Given the description of an element on the screen output the (x, y) to click on. 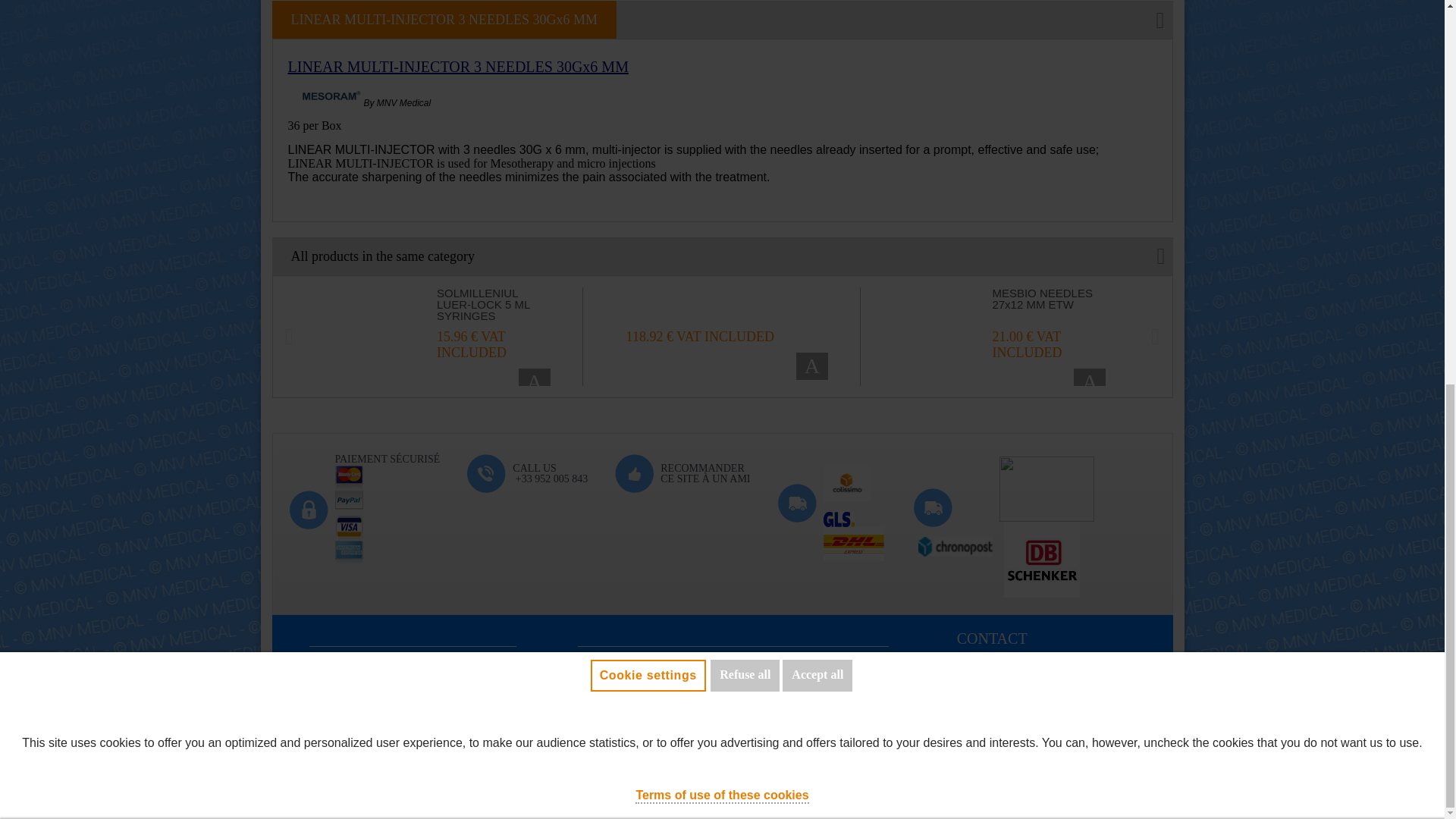
on (34, 218)
on (34, 277)
Your E-mail (388, 728)
Your name (388, 762)
SOLMILLENIUL LUER-LOCK 5 ML SYRINGES (383, 336)
MESBIO NEEDLES 27x12 MM ETW (938, 336)
on (34, 337)
